Given the description of an element on the screen output the (x, y) to click on. 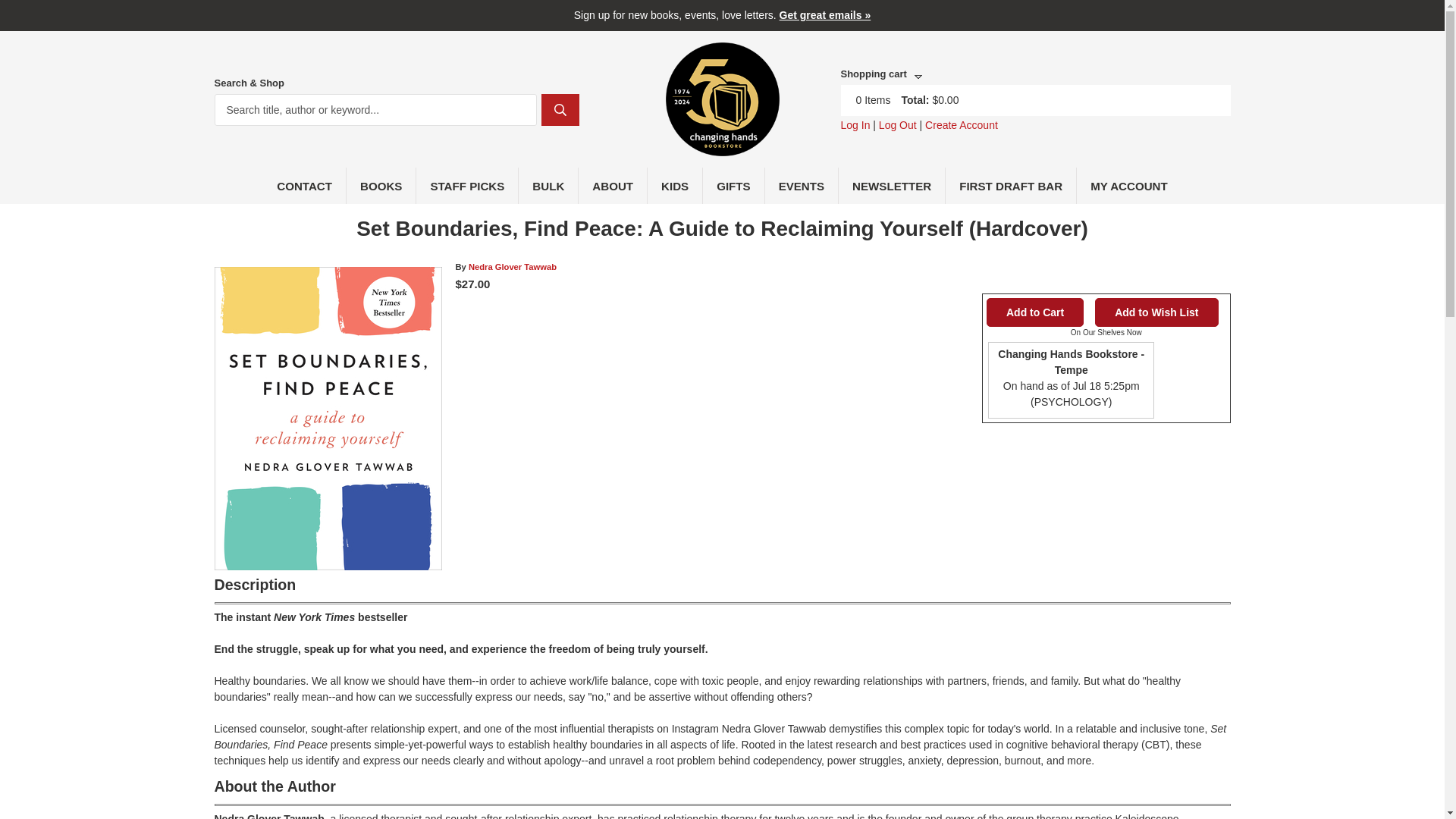
STAFF PICKS (467, 185)
Log Out (898, 124)
ABOUT (612, 185)
Search (560, 110)
Home page (721, 147)
BULK (548, 185)
Add to Cart (1035, 312)
Search (560, 110)
Log In (854, 124)
CONTACT (304, 185)
Search title, author or keyword... (374, 110)
BOOKS (381, 185)
Create Account (960, 124)
